Given the description of an element on the screen output the (x, y) to click on. 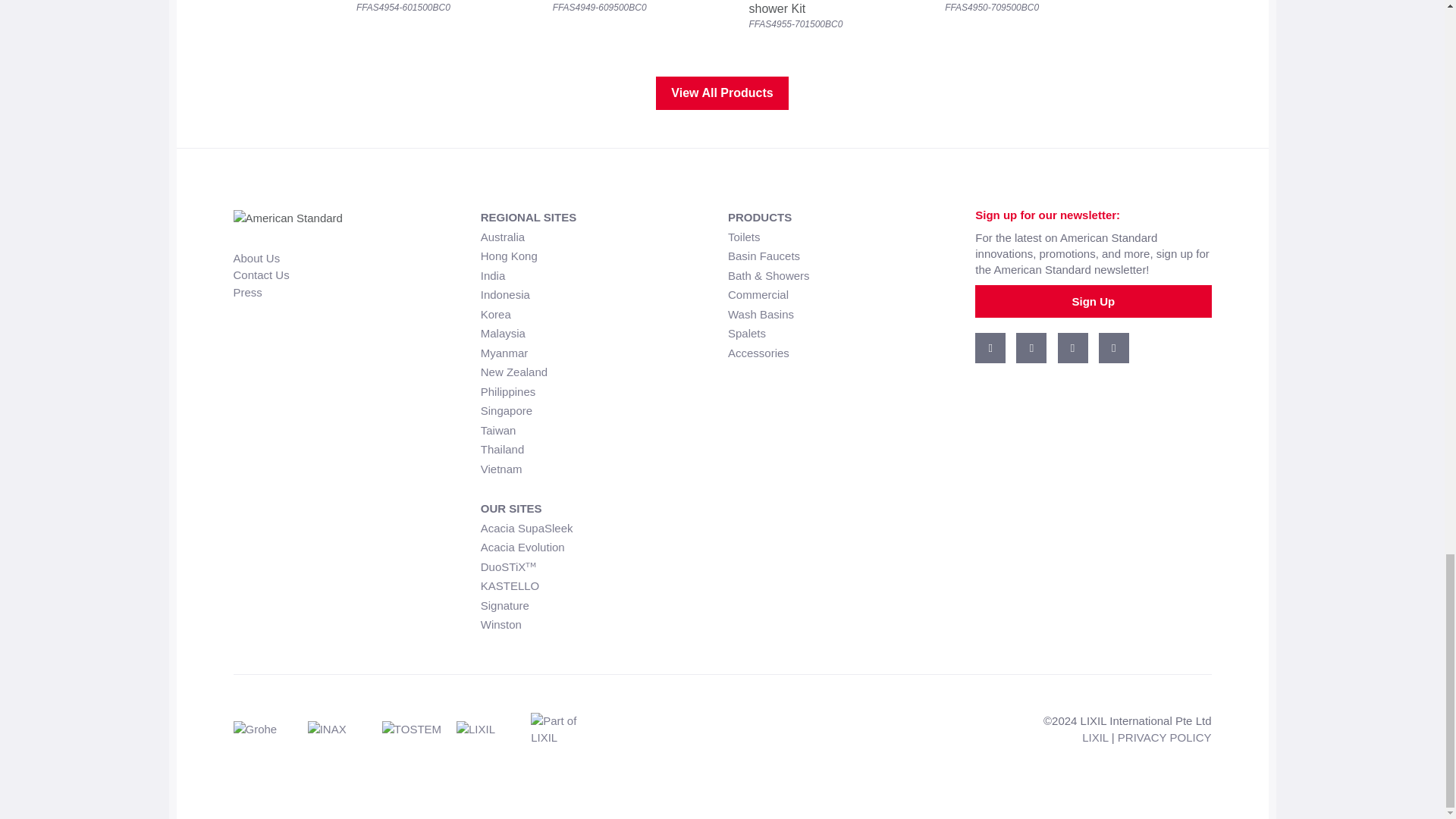
INAX (344, 734)
Part of LIXIL (566, 734)
LIXIL (494, 734)
TOSTEM (419, 734)
Grohe (269, 734)
